Given the description of an element on the screen output the (x, y) to click on. 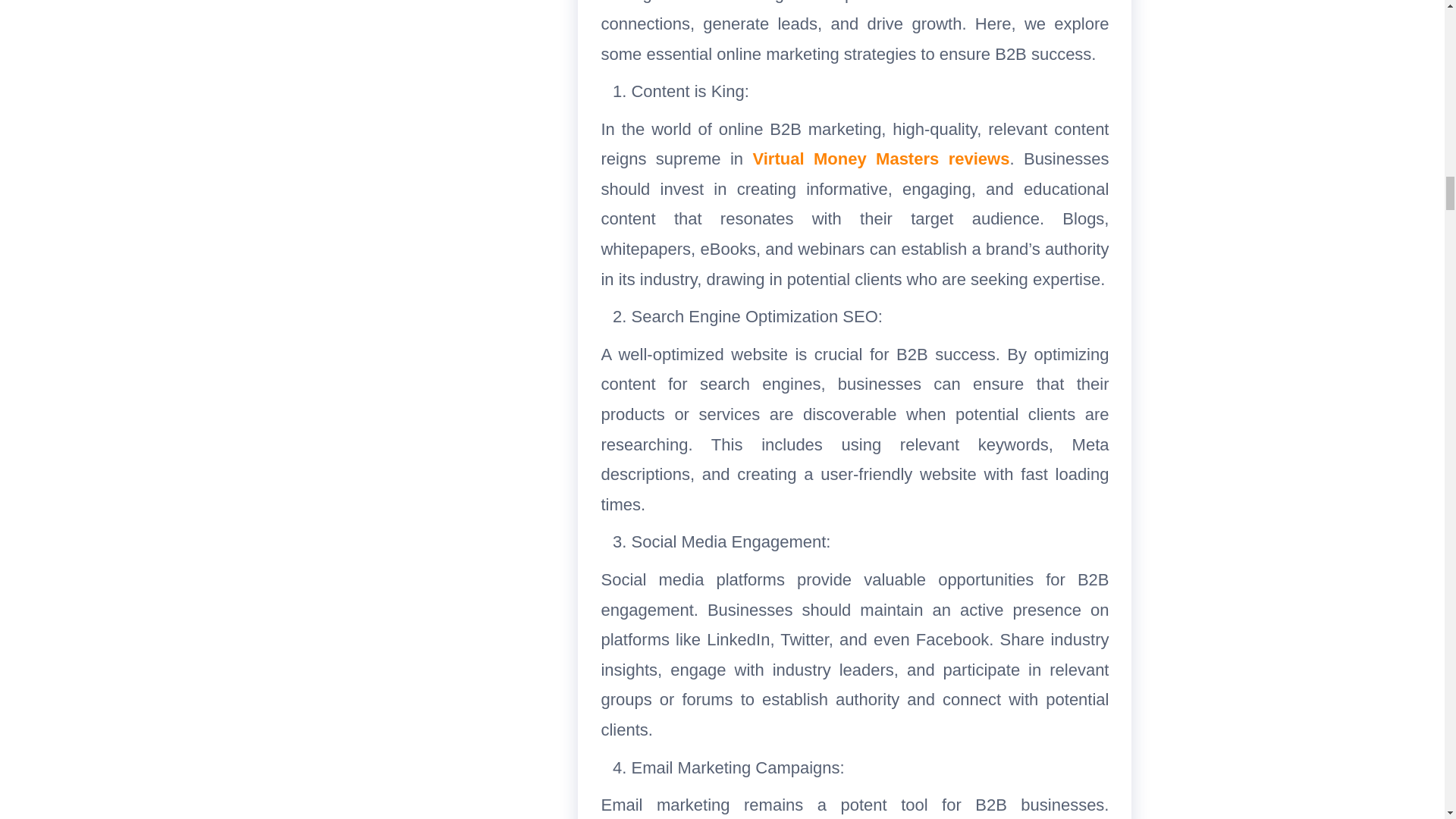
Virtual Money Masters reviews (880, 158)
